Given the description of an element on the screen output the (x, y) to click on. 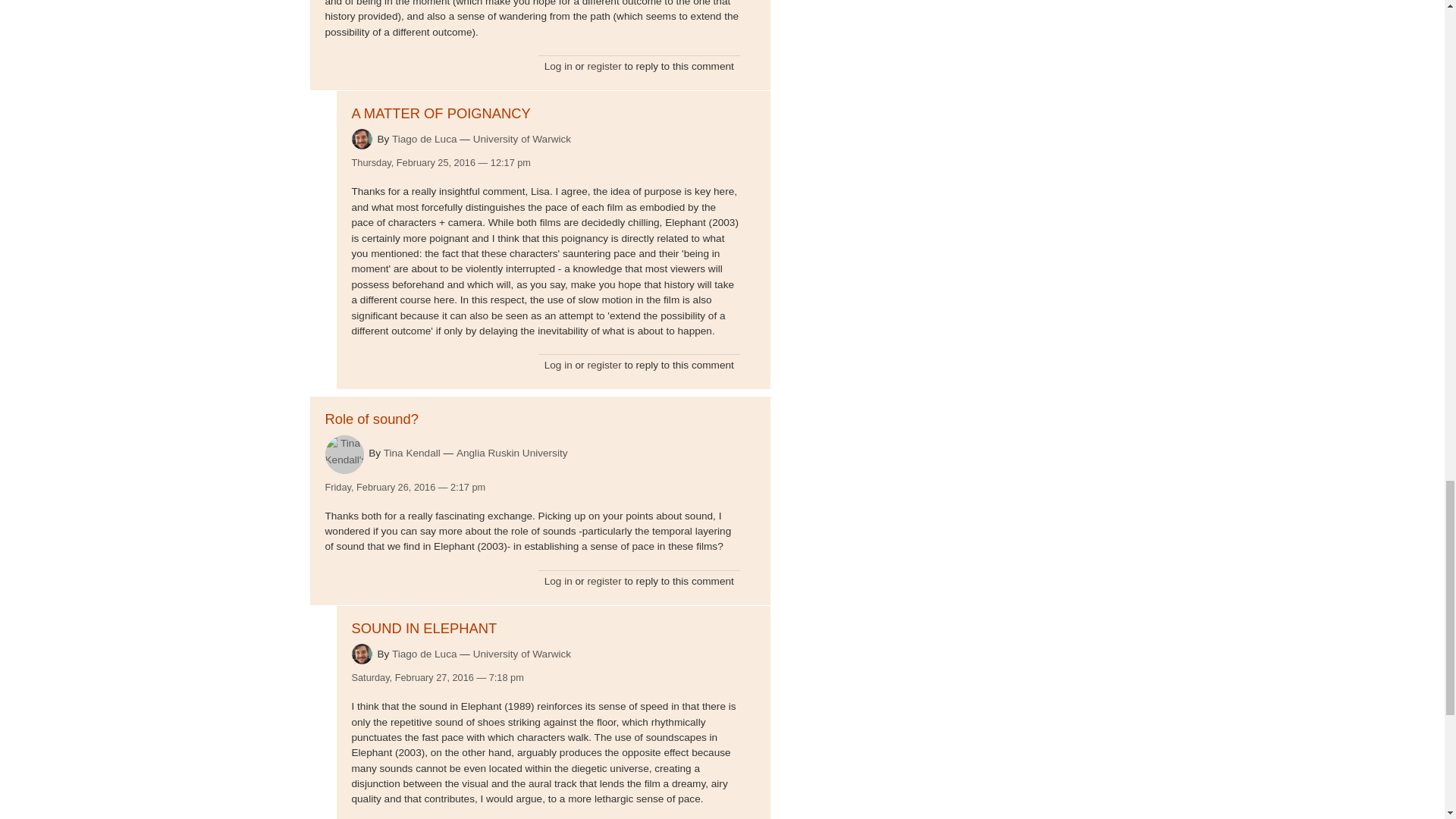
User profile: Tina Kendall (412, 452)
University of Warwick (521, 139)
View user profile. (362, 653)
User profile: Tiago de Luca (424, 654)
Log in (558, 66)
View user profile. (343, 454)
A MATTER OF POIGNANCY (441, 113)
Anglia Ruskin University (512, 453)
Tiago de Luca (424, 138)
University of Warwick (521, 139)
register (603, 66)
University of Warwick (521, 654)
View user profile. (362, 138)
User profile: Tiago de Luca (424, 138)
